Given the description of an element on the screen output the (x, y) to click on. 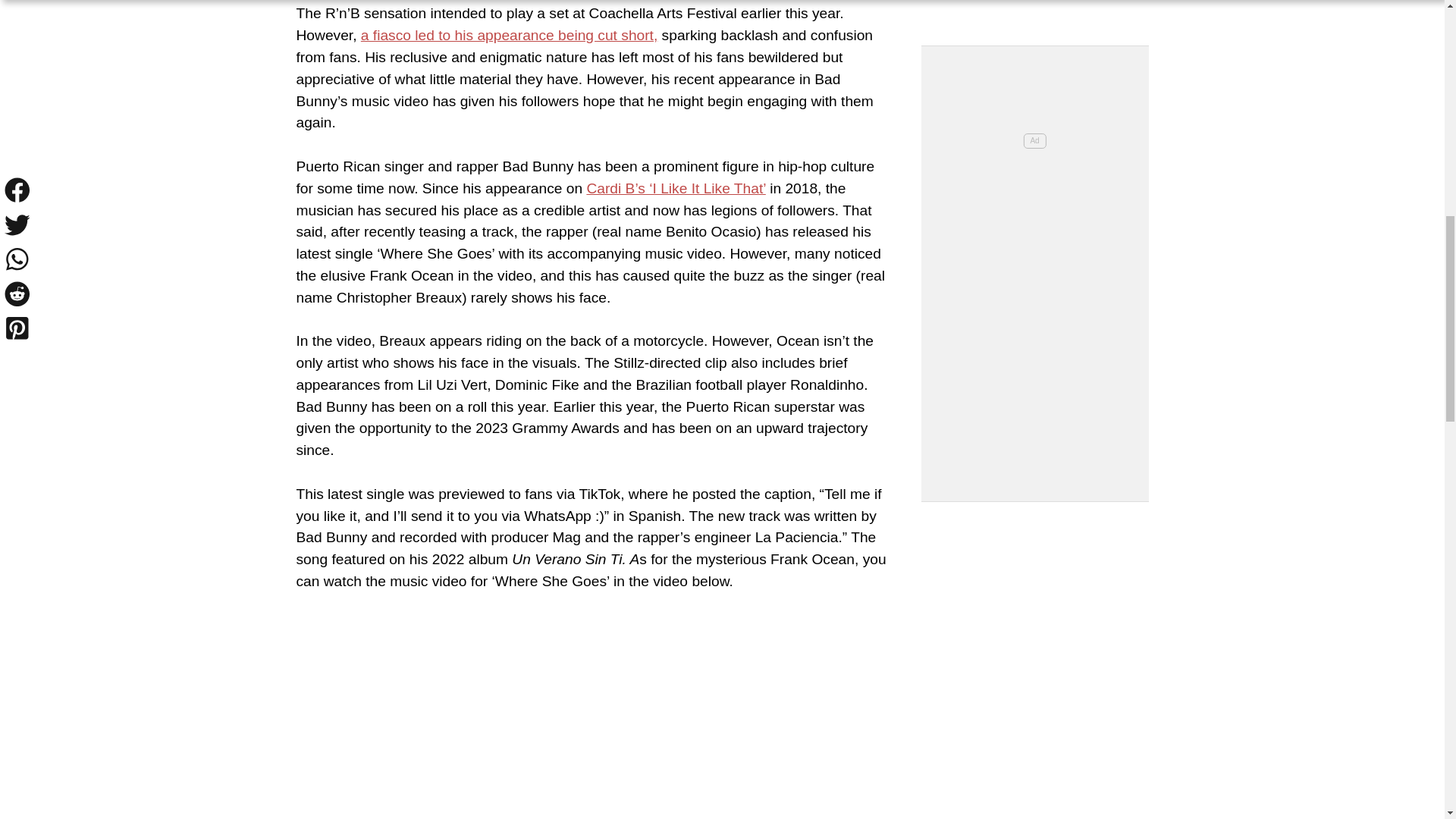
a fiasco led to his appearance being cut short, (509, 35)
